Given the description of an element on the screen output the (x, y) to click on. 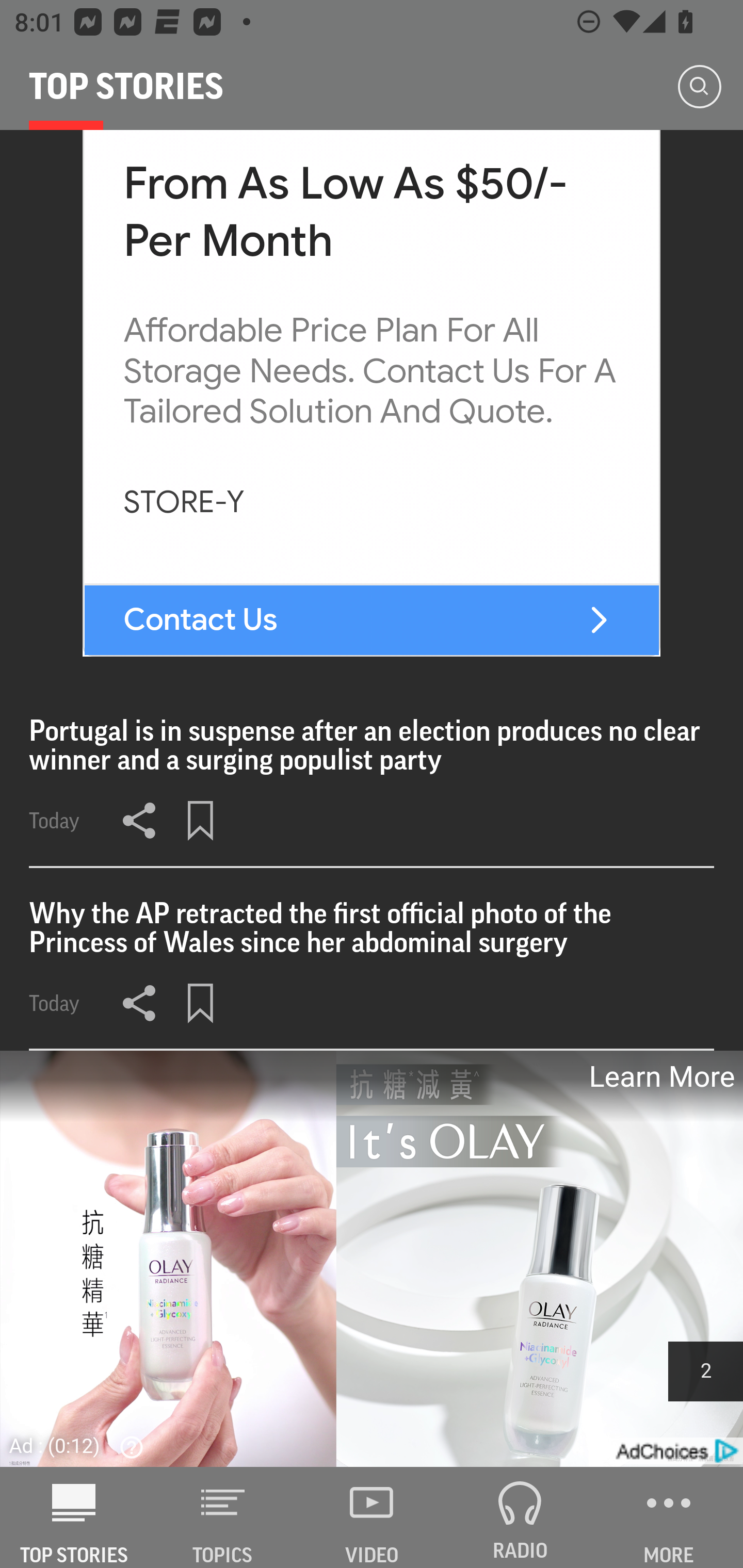
STORE-Y (183, 502)
Contact Us (200, 619)
Learn More (660, 1076)
Skip Ad Countdown (705, 1370)
Ad : (0:12) Why This Ad? (82, 1444)
Why This Ad? (126, 1446)
get?name=admarker-full-tl (675, 1451)
AP News TOP STORIES (74, 1517)
TOPICS (222, 1517)
VIDEO (371, 1517)
RADIO (519, 1517)
MORE (668, 1517)
